Given the description of an element on the screen output the (x, y) to click on. 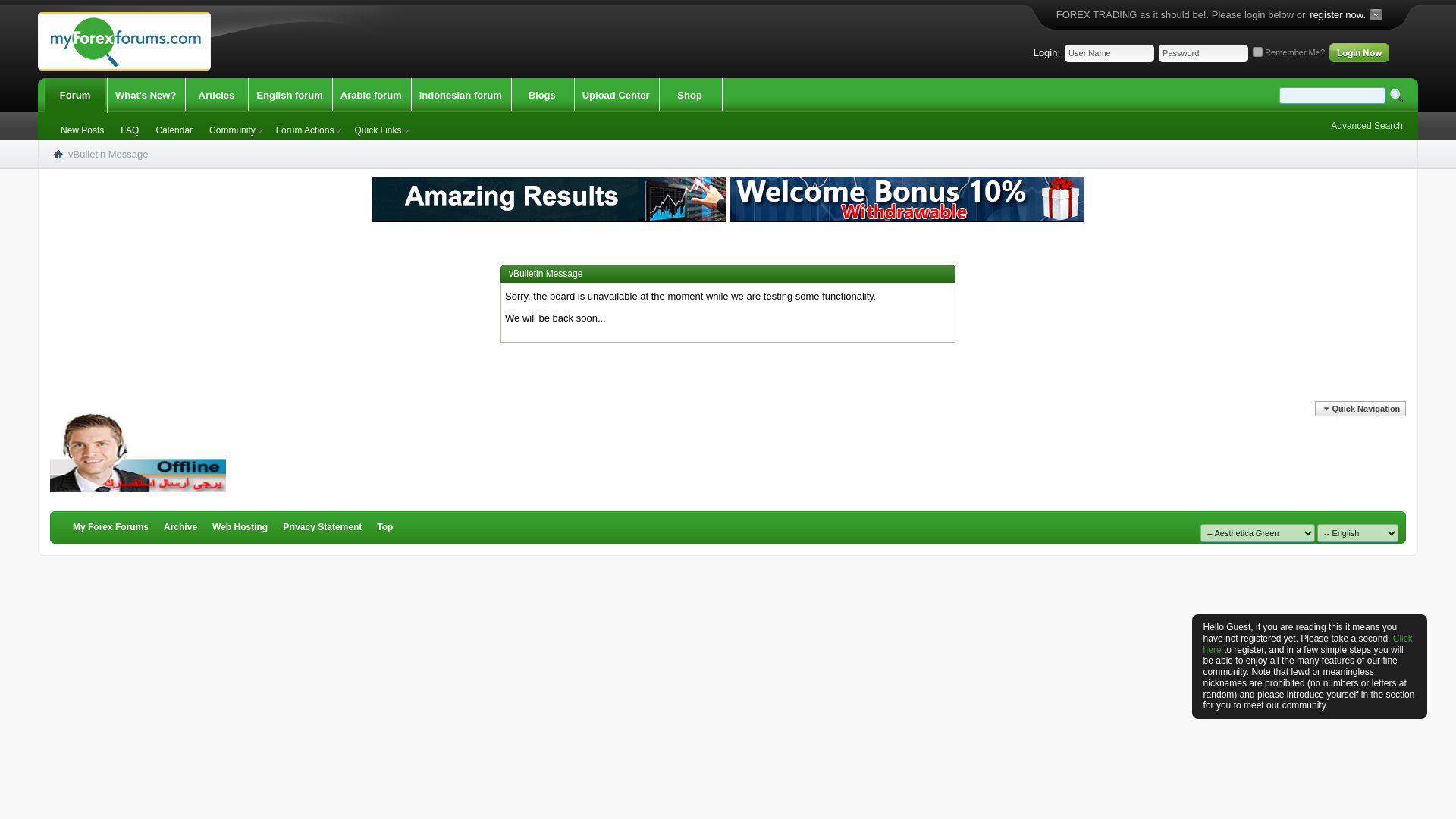
ARIONFORXtarder (548, 198)
1 (1257, 51)
Arabic forum (371, 95)
Community (234, 130)
Blogs (542, 95)
Calendar (174, 130)
What's New? (145, 95)
Quick Links (379, 130)
LiveZilla Live Chat Software (137, 452)
New Posts (82, 130)
Forum Actions (306, 130)
Indonesian forum (460, 95)
Shop (689, 95)
Password (1202, 53)
Forum (74, 95)
